Given the description of an element on the screen output the (x, y) to click on. 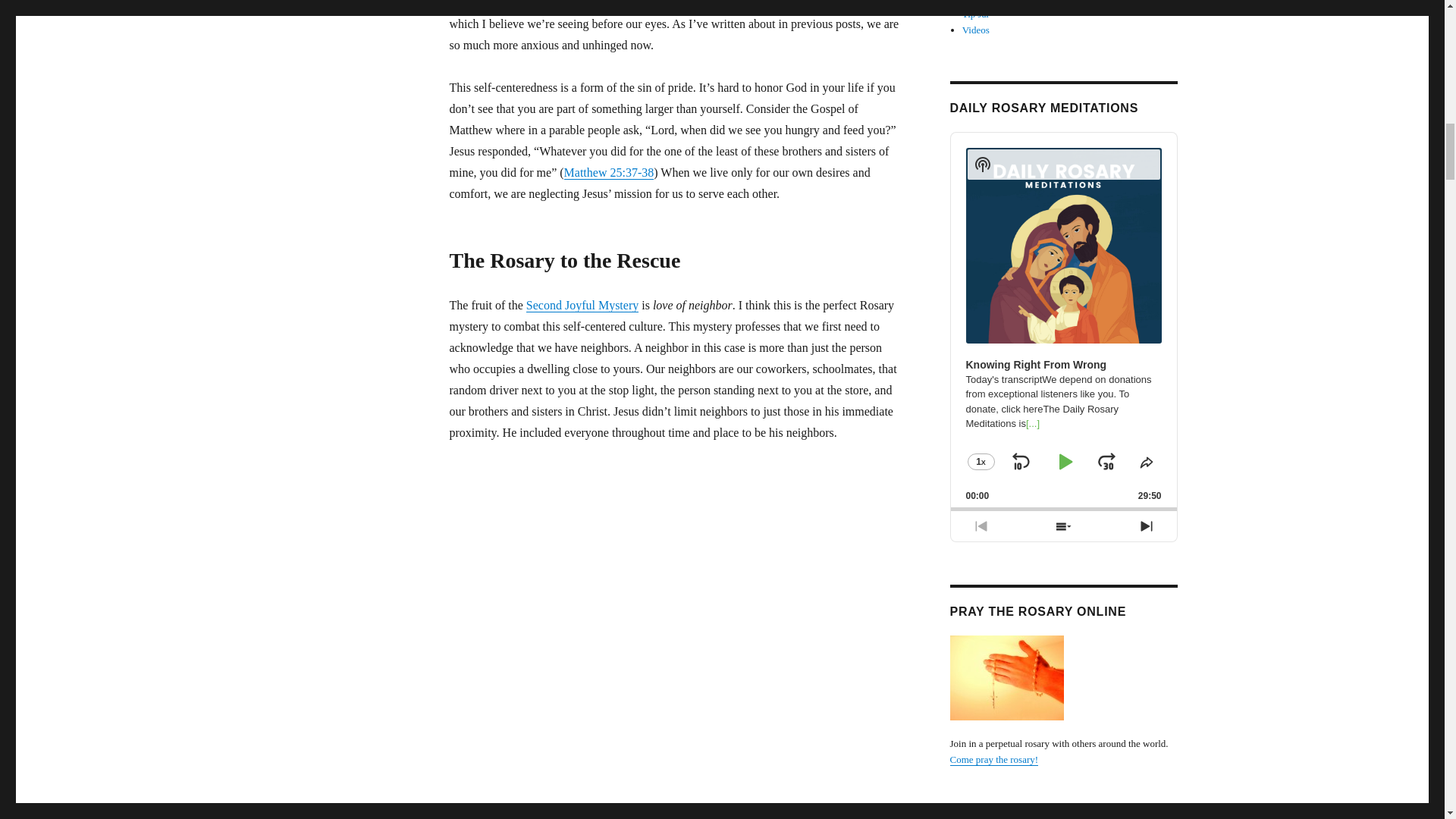
Second Joyful Mystery (582, 305)
Matthew 25:37-38 (608, 172)
Matthew 25:37-38 (608, 172)
The Second Joyful Mystery (582, 305)
0 (1063, 508)
